Given the description of an element on the screen output the (x, y) to click on. 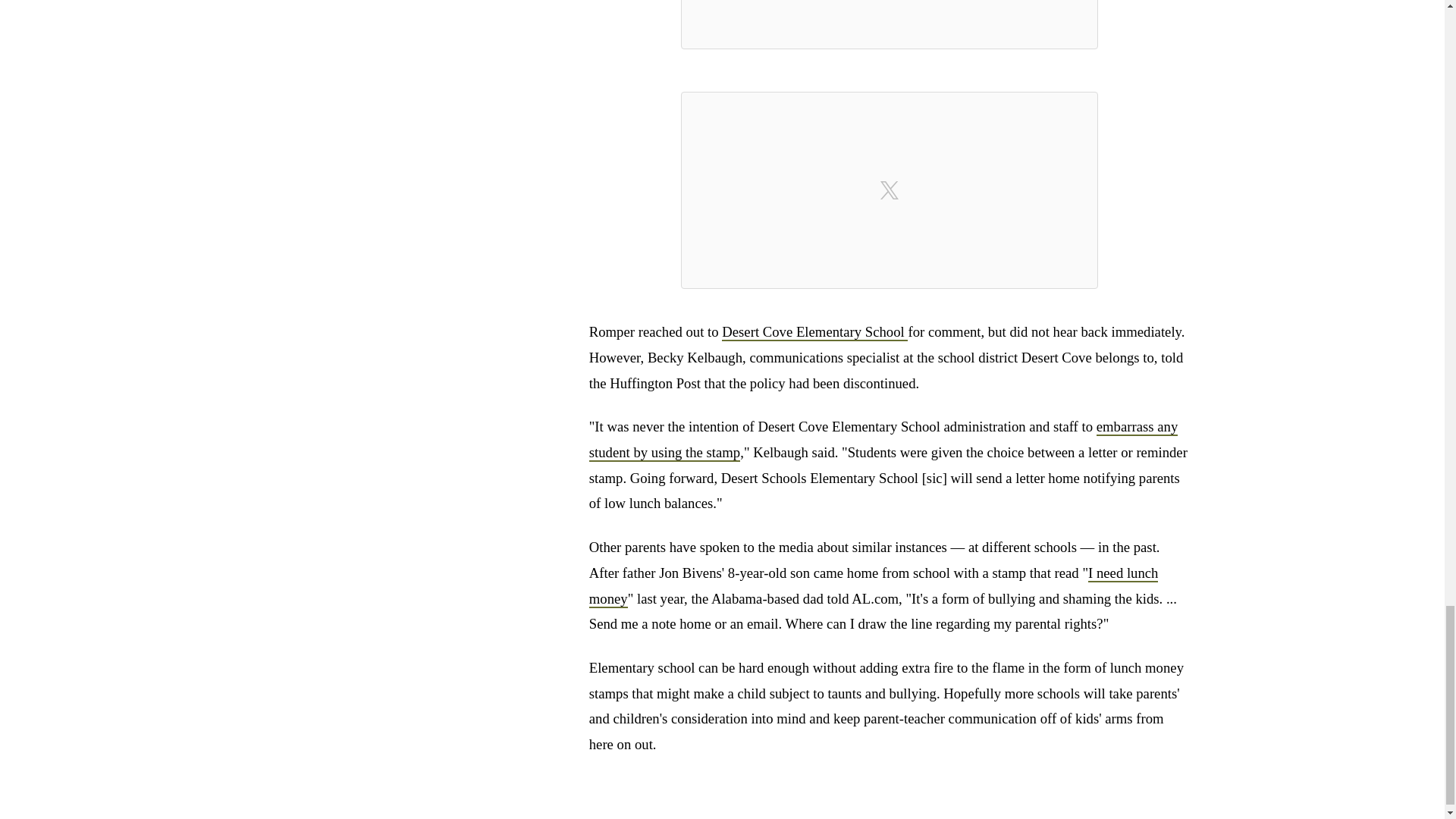
Desert Cove Elementary School (814, 332)
embarrass any student by using the stamp (883, 439)
I need lunch money (873, 586)
